Given the description of an element on the screen output the (x, y) to click on. 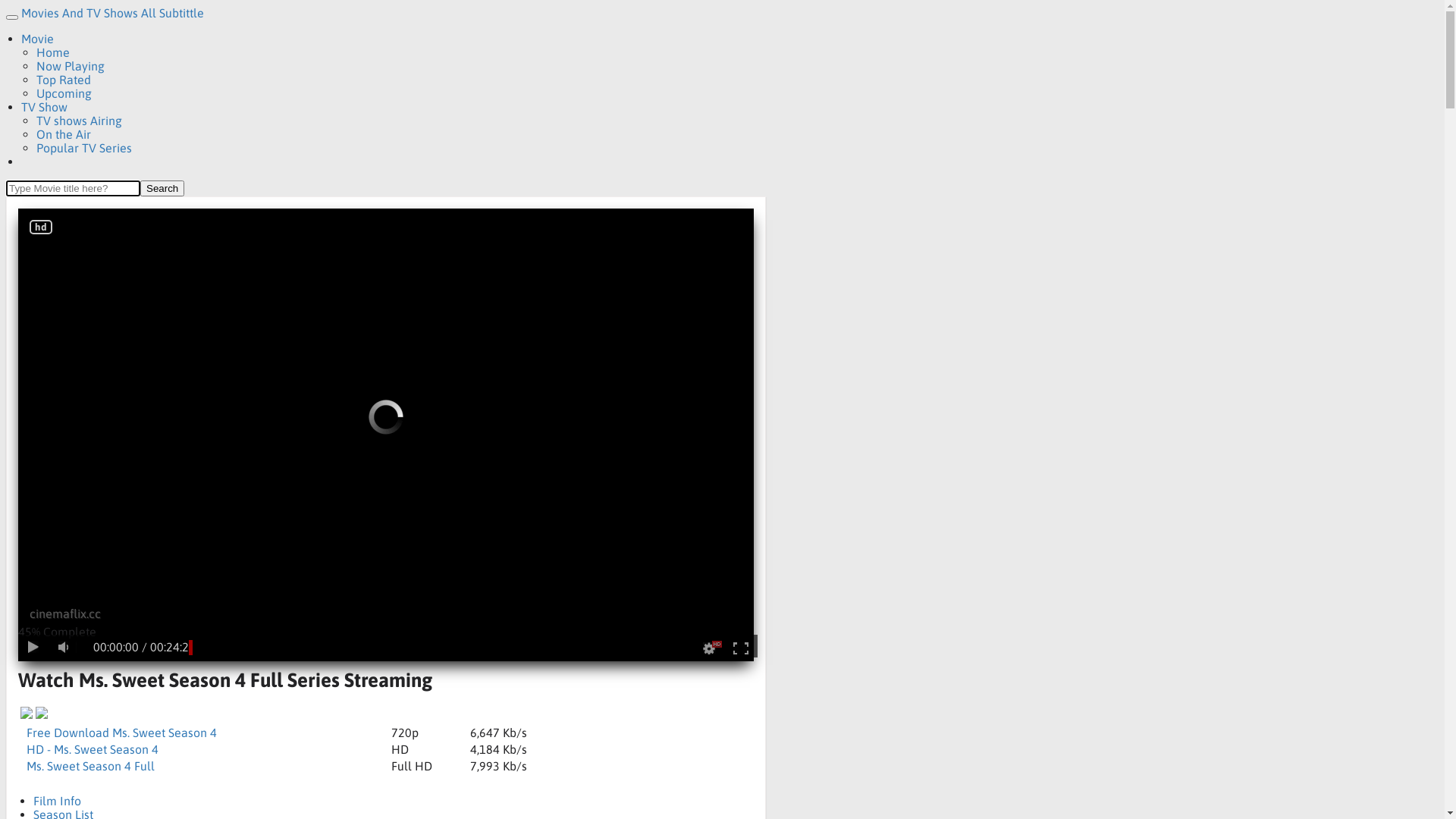
Ms. Sweet Season 4 Full Element type: text (90, 765)
Film Info Element type: text (57, 800)
Search Element type: text (162, 188)
TV shows Airing Element type: text (79, 120)
HD - Ms. Sweet Season 4 Element type: text (92, 749)
Upcoming Element type: text (63, 93)
TV Show Element type: text (44, 106)
Top Rated Element type: text (63, 79)
Home Element type: text (52, 52)
On the Air Element type: text (63, 134)
Free Download Ms. Sweet Season 4 Element type: text (121, 732)
Now Playing Element type: text (70, 65)
Movie Element type: text (37, 38)
Popular TV Series Element type: text (83, 147)
Movies And TV Shows All Subtittle Element type: text (112, 12)
